Given the description of an element on the screen output the (x, y) to click on. 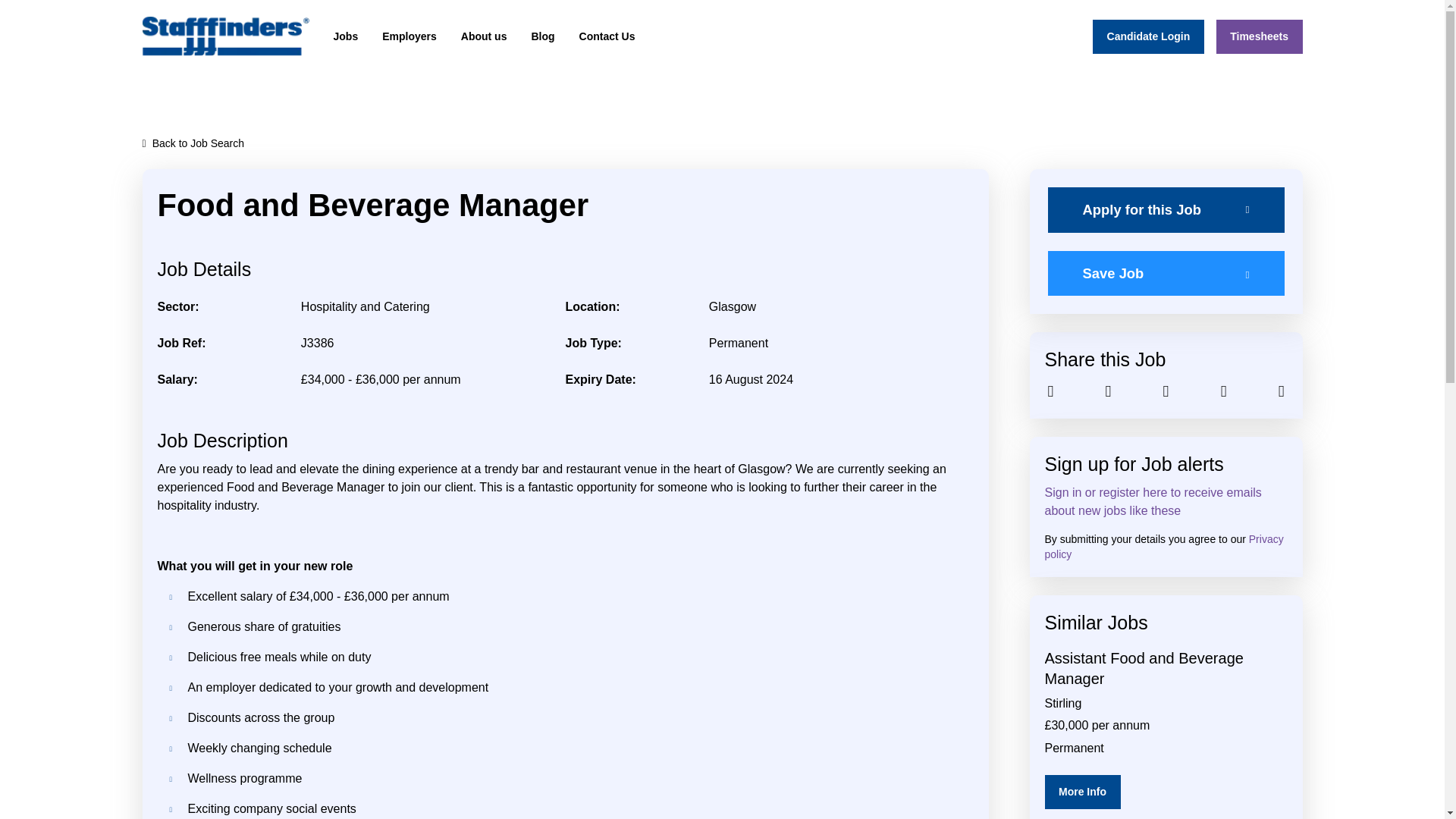
Blog (542, 35)
Employers (408, 35)
Jobs (346, 35)
Contact Us (607, 35)
About us (483, 35)
